Given the description of an element on the screen output the (x, y) to click on. 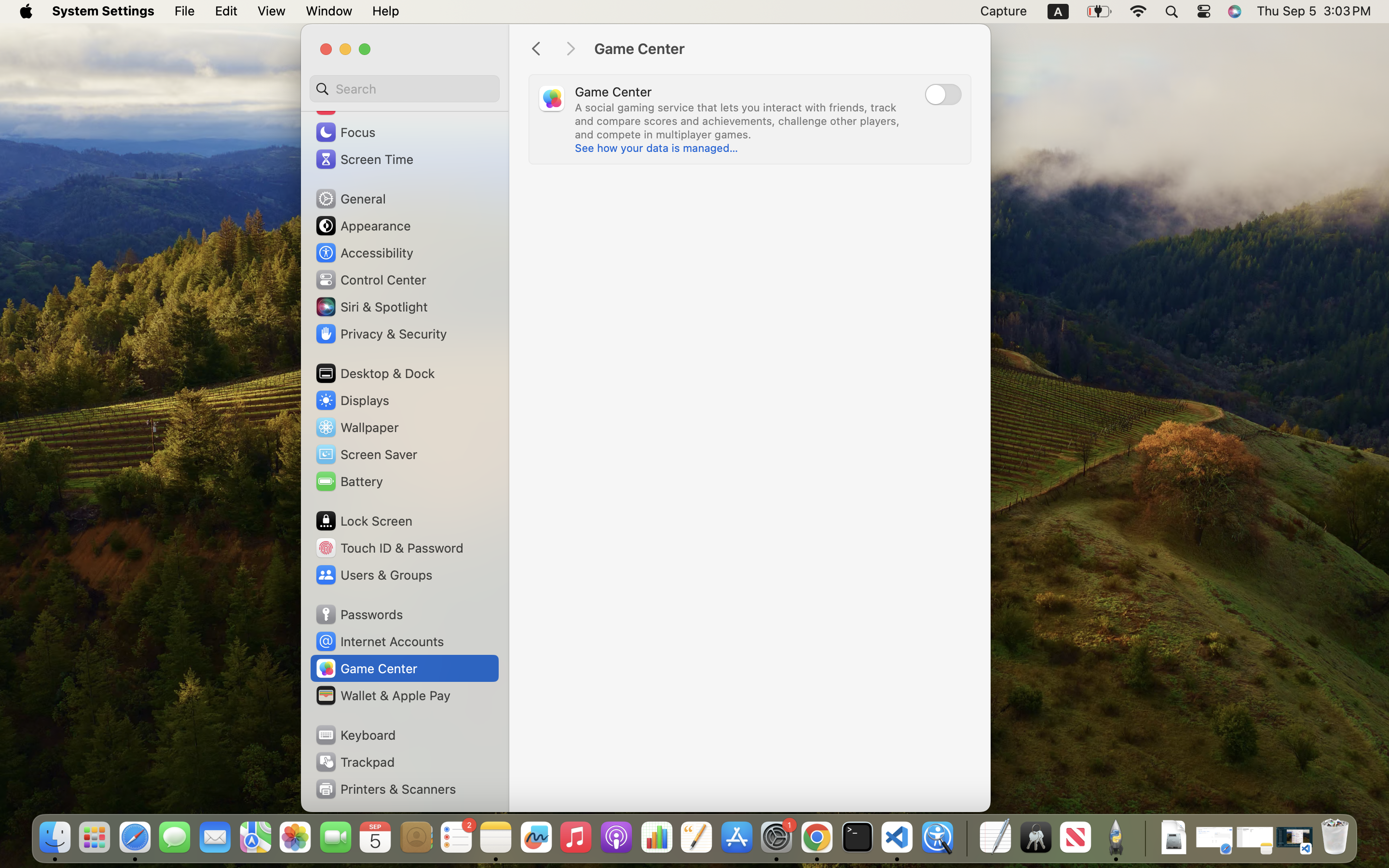
General Element type: AXStaticText (349, 198)
Desktop & Dock Element type: AXStaticText (374, 372)
Wallpaper Element type: AXStaticText (356, 426)
Lock Screen Element type: AXStaticText (363, 520)
Trackpad Element type: AXStaticText (354, 761)
